Given the description of an element on the screen output the (x, y) to click on. 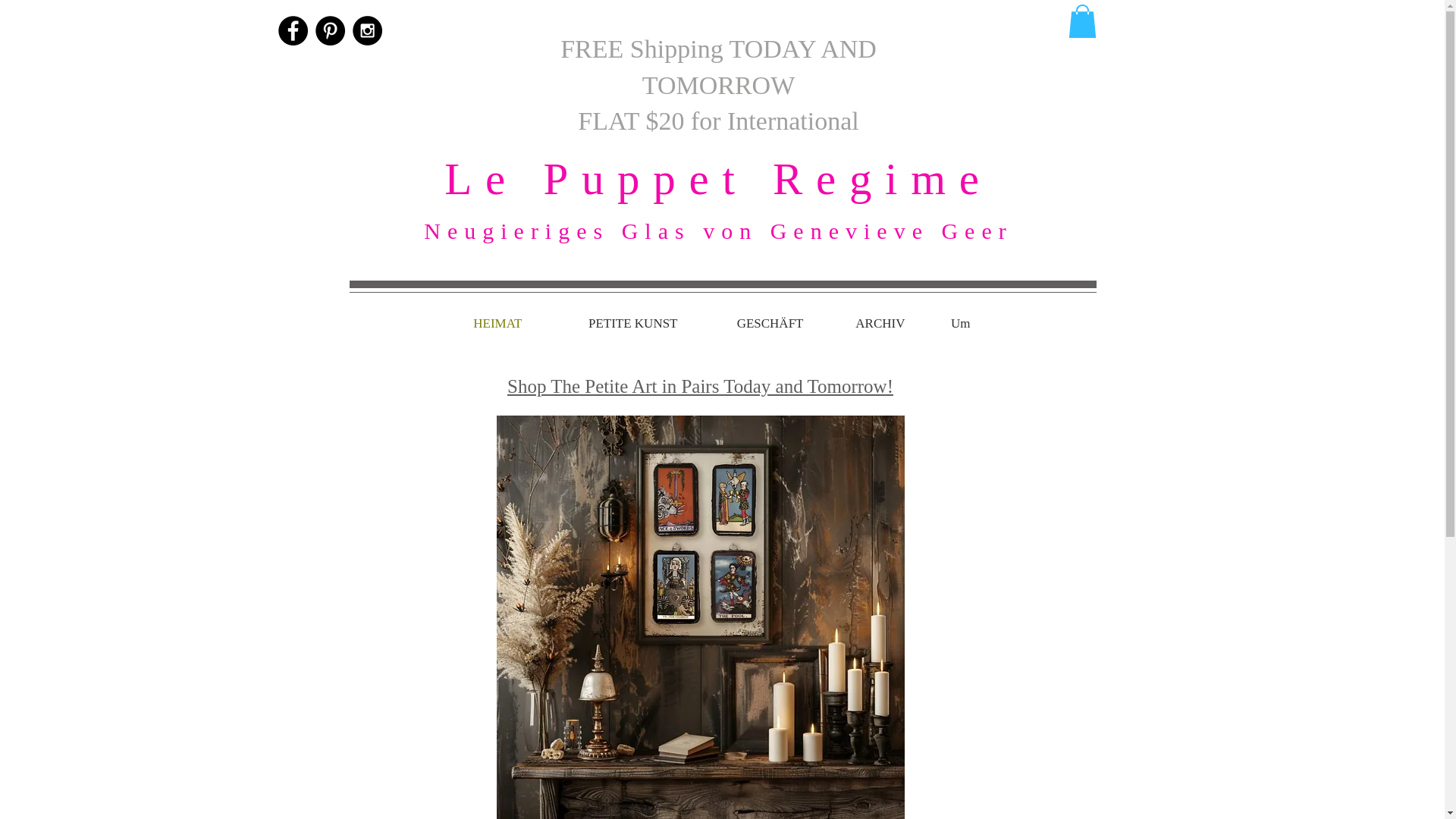
Shop The Petite Art in Pairs Today and Tomorrow! (699, 385)
Um (948, 323)
PETITE KUNST (611, 323)
HEIMAT (481, 323)
ARCHIV (864, 323)
Le Puppet Regime (717, 178)
